Given the description of an element on the screen output the (x, y) to click on. 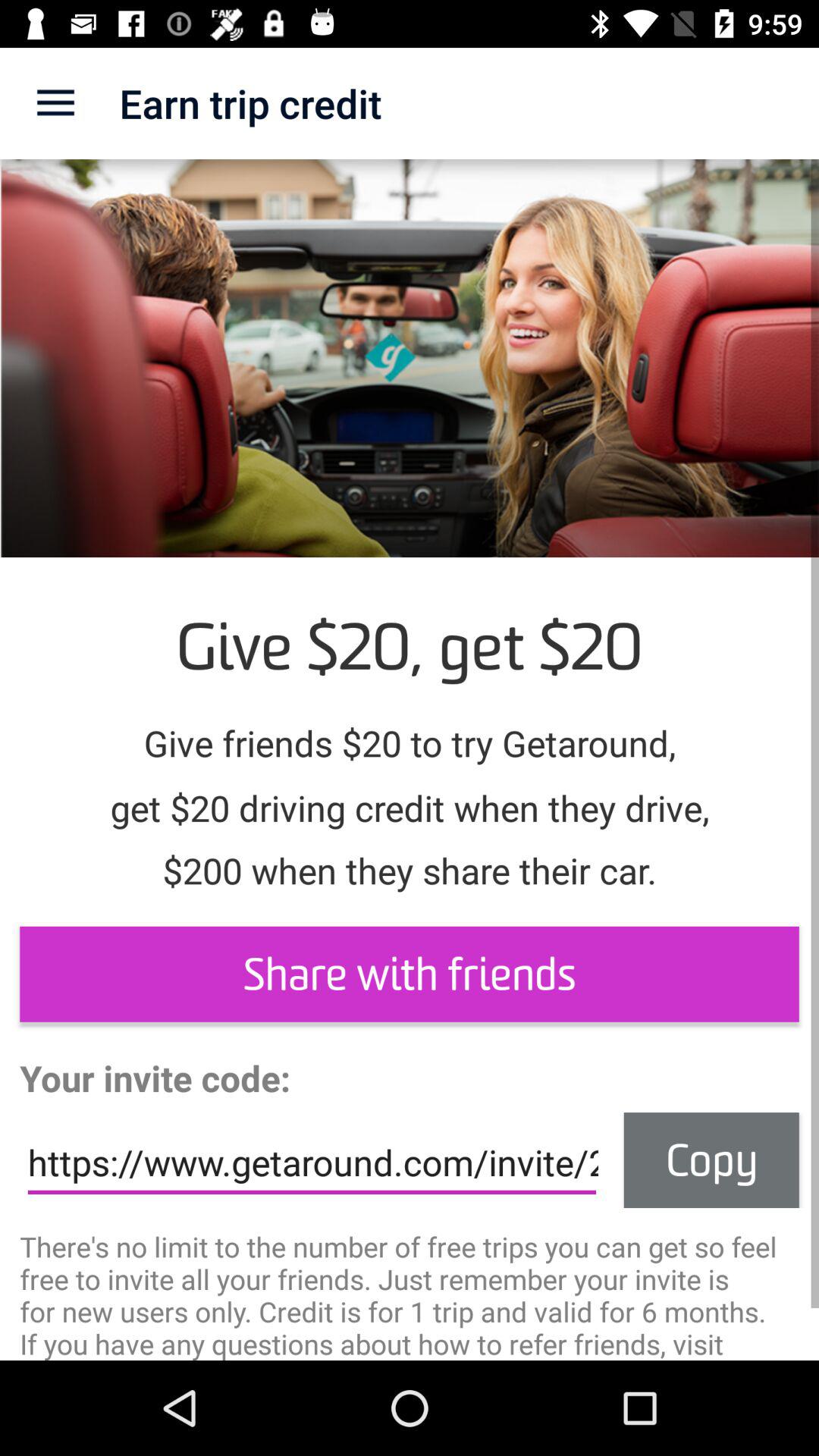
click item above the there s no (711, 1160)
